Given the description of an element on the screen output the (x, y) to click on. 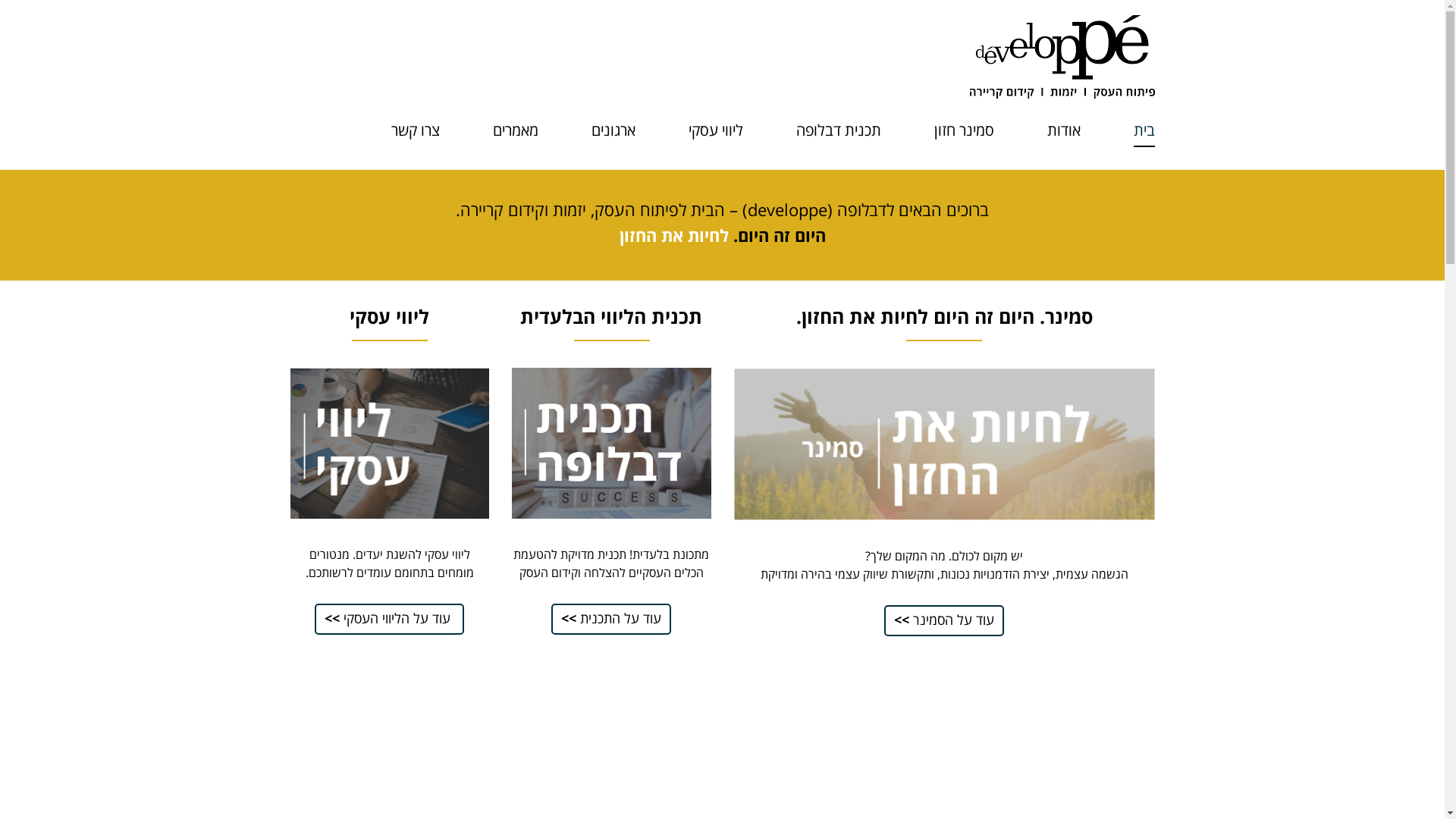
developpe Element type: hover (1061, 55)
